Given the description of an element on the screen output the (x, y) to click on. 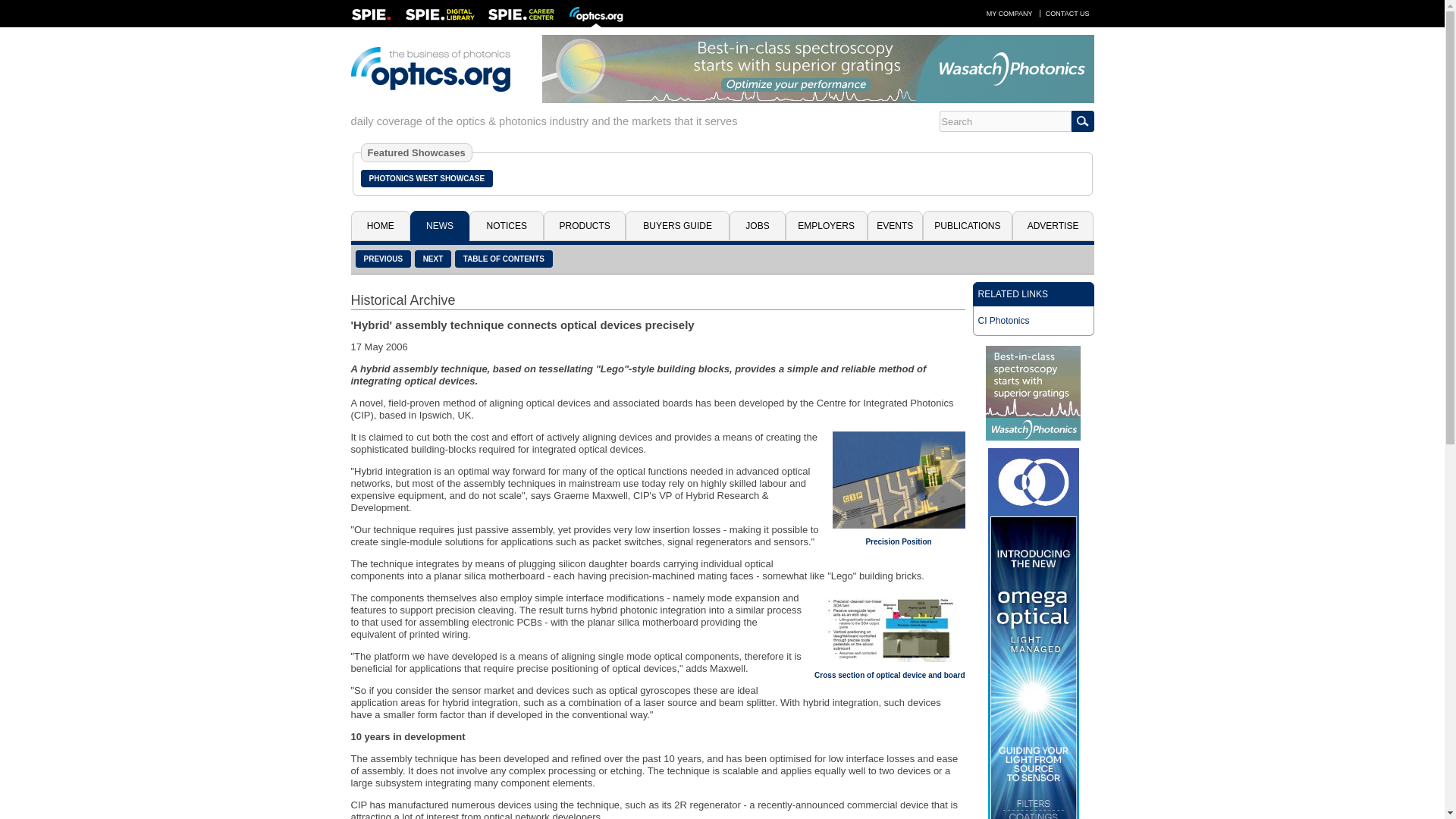
BUYERS GUIDE (677, 225)
Cross section of optical device and board (889, 626)
MY COMPANY (1008, 13)
JOBS (757, 225)
NOTICES (505, 225)
PHOTONICS WEST SHOWCASE (427, 178)
Cross section of optical device and board (888, 674)
Precison positioning of optical device (898, 479)
HOME (379, 225)
NEWS (439, 225)
